Given the description of an element on the screen output the (x, y) to click on. 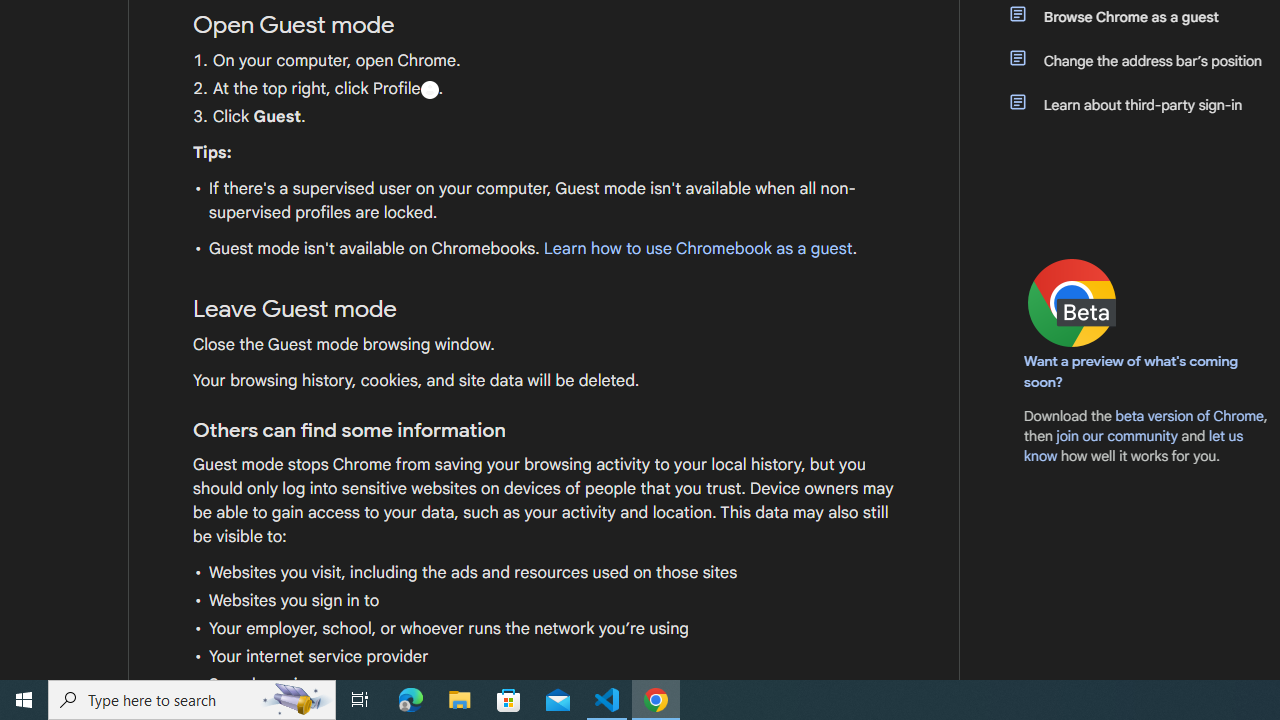
join our community (1116, 435)
let us know (1134, 445)
Learn how to use Chromebook as a guest (697, 249)
Want a preview of what's coming soon? (1131, 371)
Profile (429, 89)
beta version of Chrome (1189, 415)
Chrome Beta logo (1072, 302)
